Given the description of an element on the screen output the (x, y) to click on. 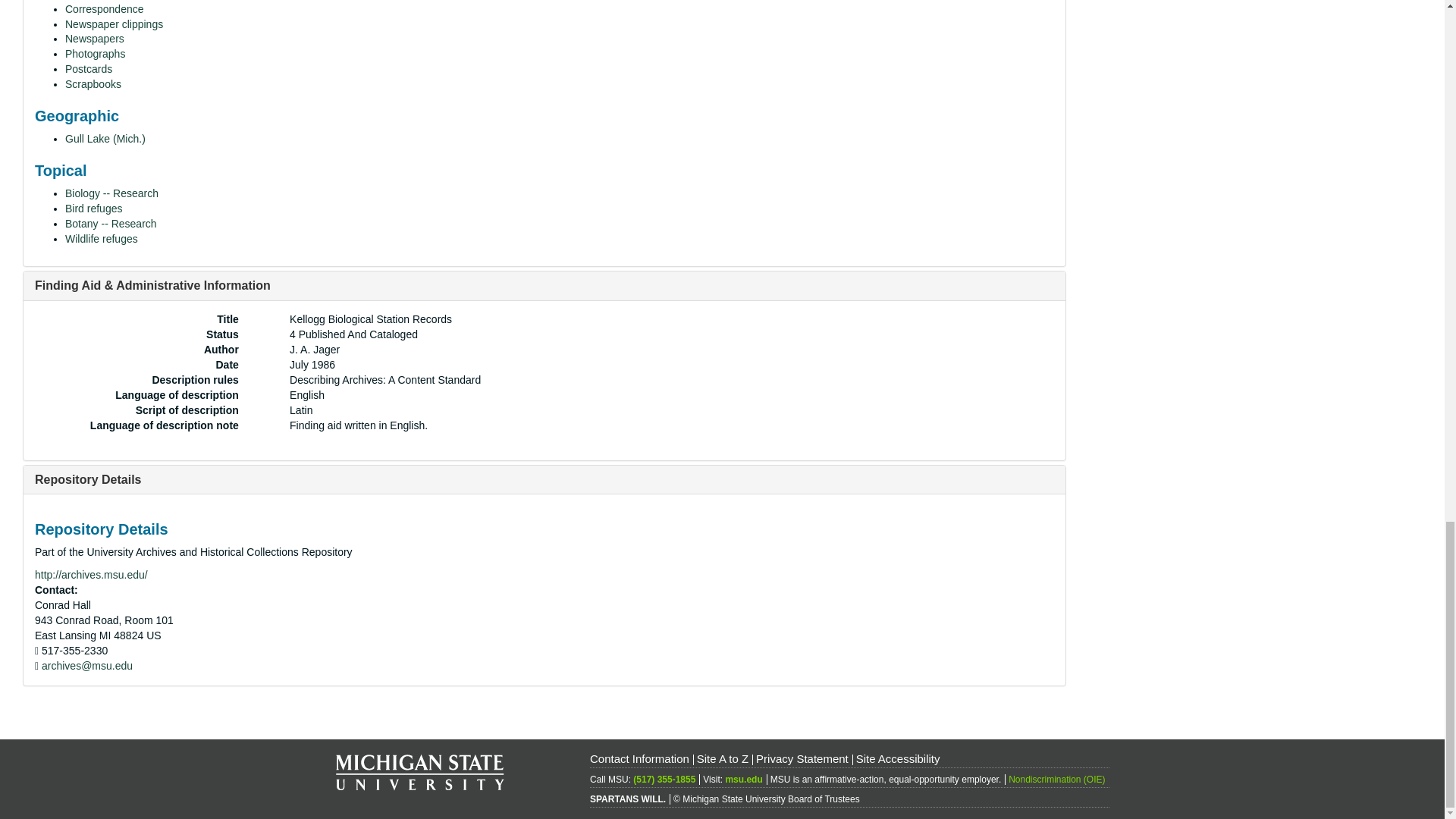
Postcards (88, 69)
Photographs (95, 53)
Newspapers (94, 38)
Correspondence (104, 9)
Send email (87, 665)
Newspaper clippings (114, 24)
